Given the description of an element on the screen output the (x, y) to click on. 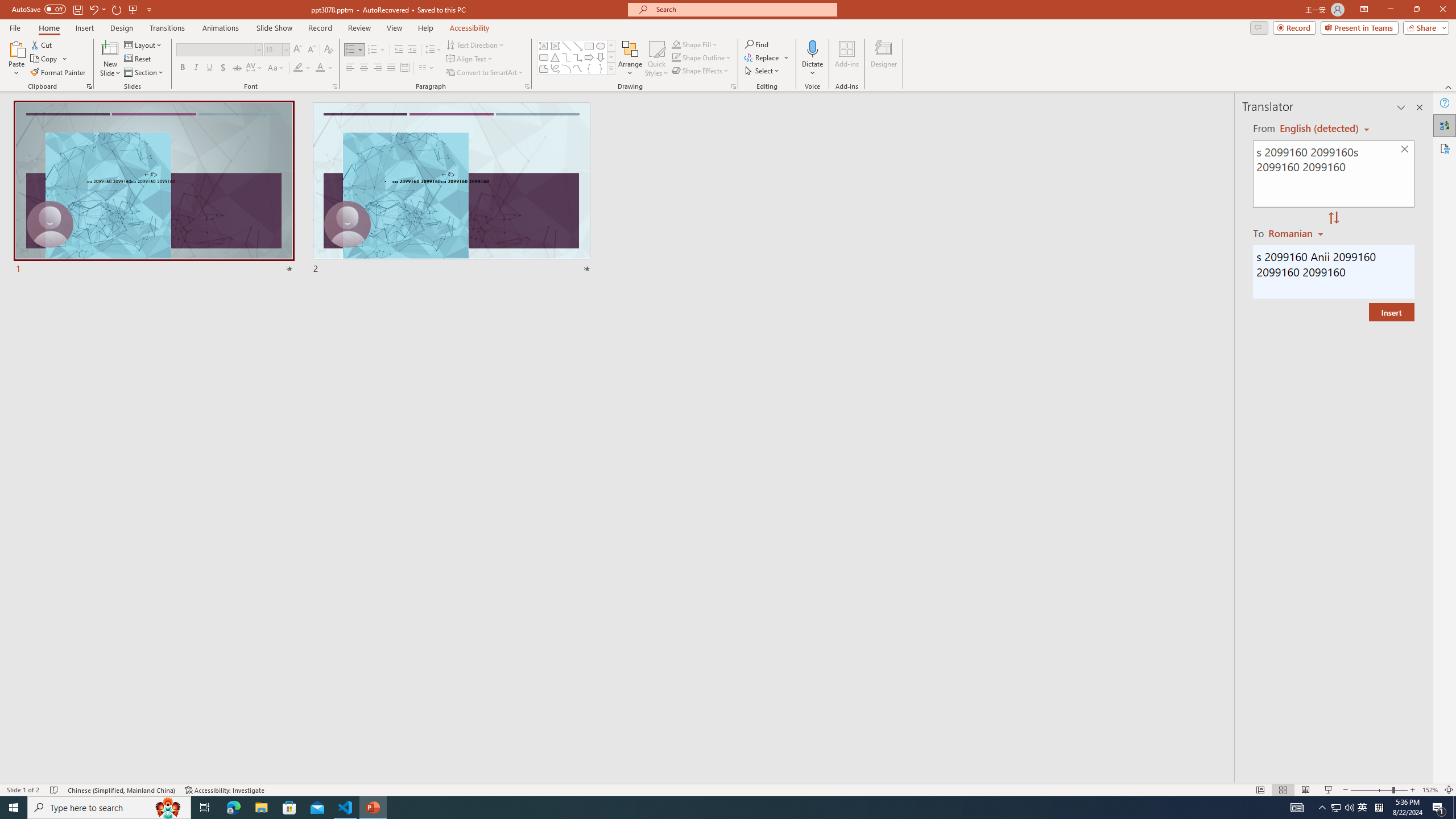
Shape Effects (700, 69)
